Given the description of an element on the screen output the (x, y) to click on. 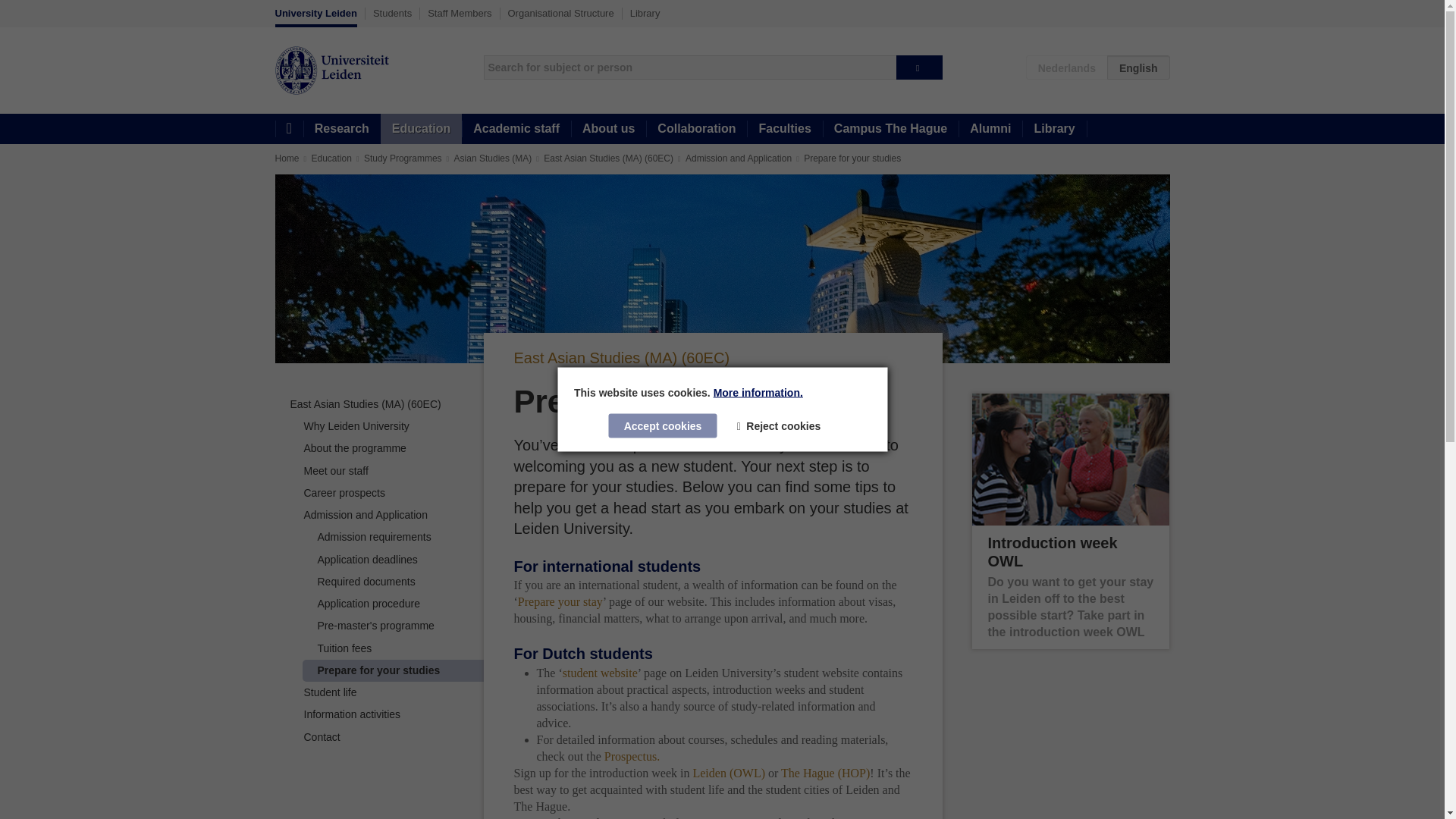
Alumni (990, 128)
Education (420, 128)
Study Programmes (403, 158)
Staff Members (460, 13)
University Leiden (315, 17)
Application deadlines (366, 559)
Students (392, 13)
Career prospects (343, 492)
Student life (329, 692)
Meet our staff (335, 470)
Research (341, 128)
Meet our staff (335, 470)
Contact (320, 736)
About us (608, 128)
Collaboration (696, 128)
